Given the description of an element on the screen output the (x, y) to click on. 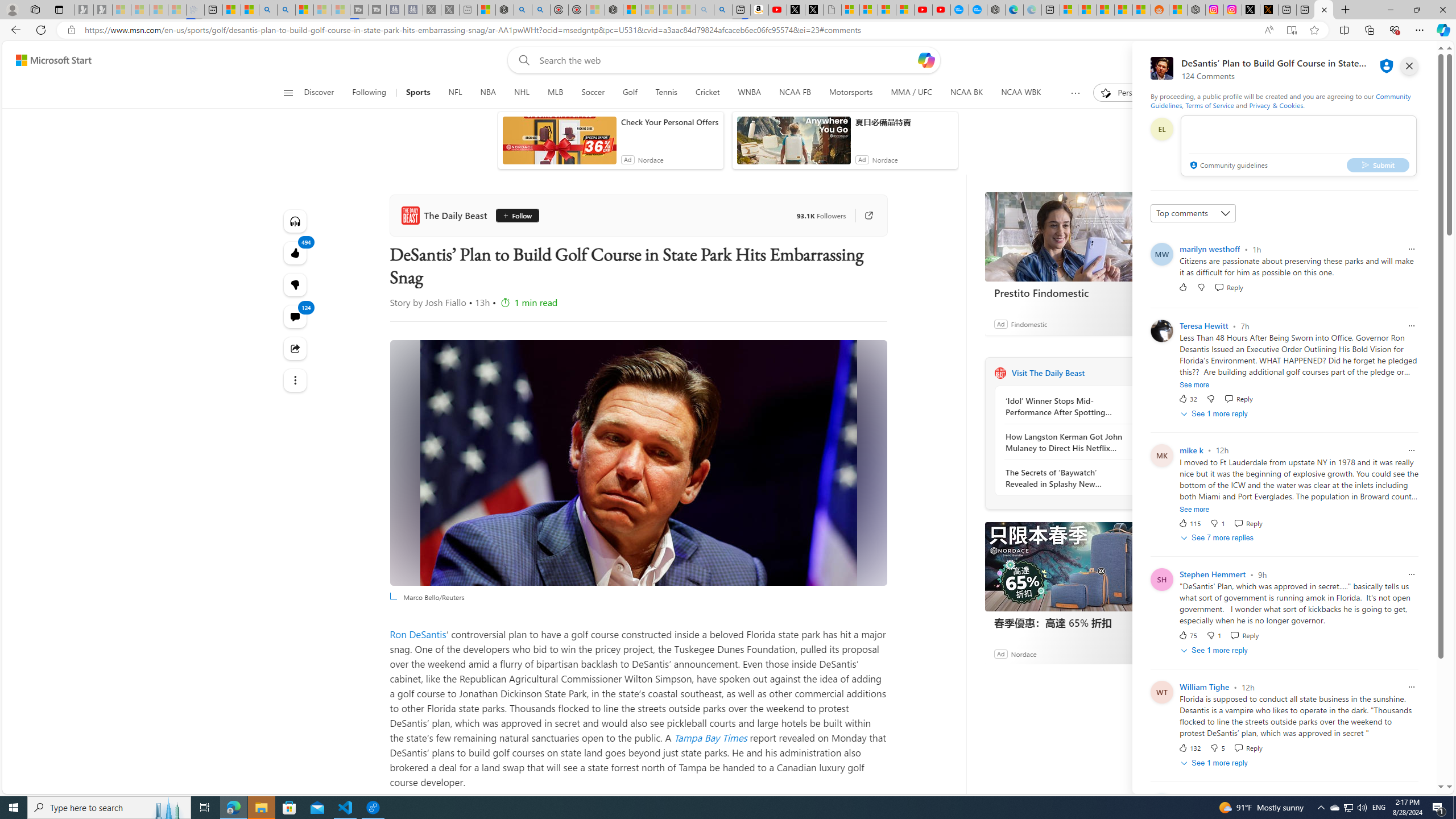
Personalize (1128, 92)
Findomestic (1028, 323)
Dislike (1217, 748)
View comments 124 Comment (295, 316)
The Daily Beast (446, 215)
Newsletter Sign Up - Sleeping (102, 9)
